Given the description of an element on the screen output the (x, y) to click on. 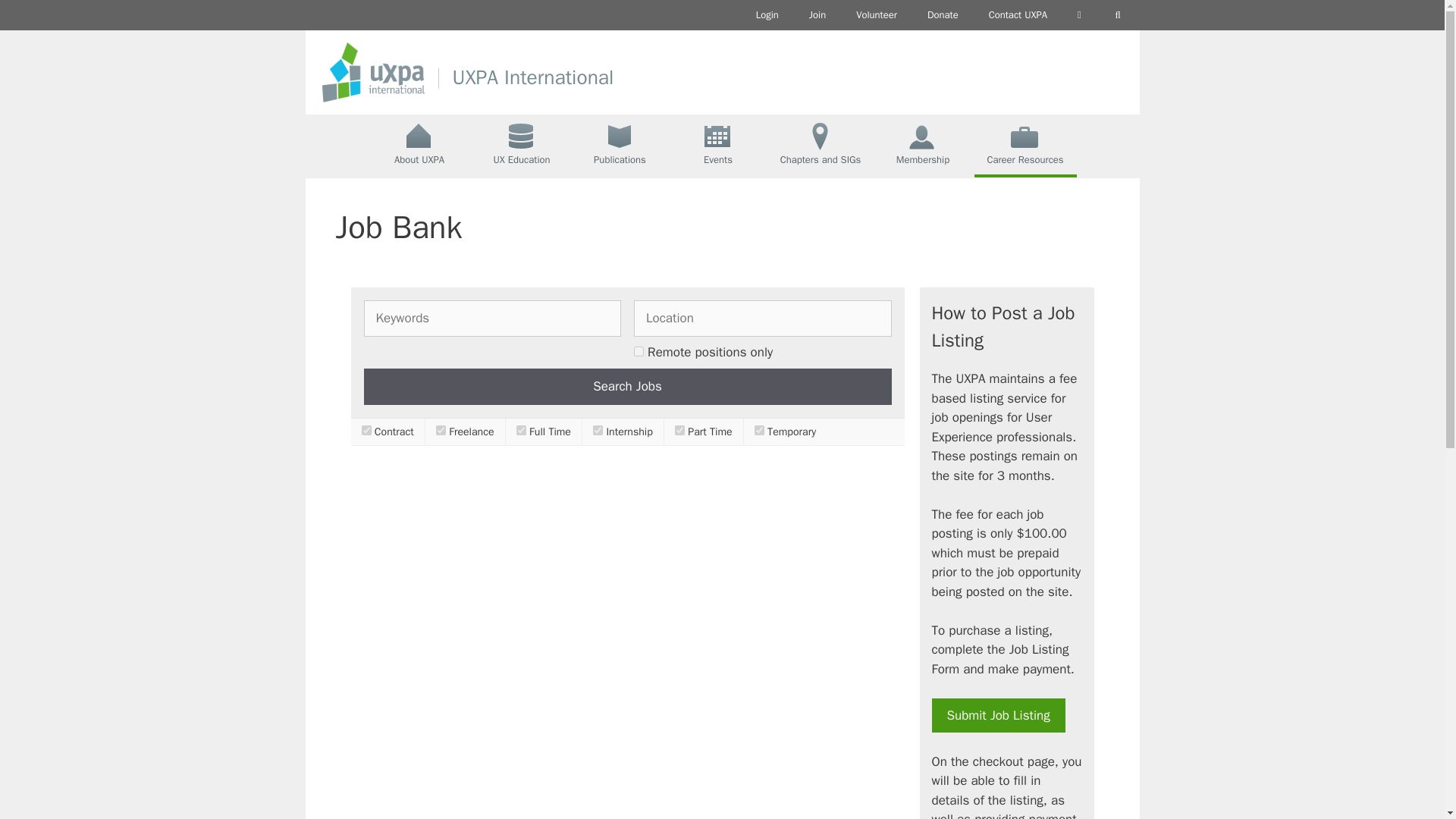
Volunteer (876, 15)
full-time (520, 429)
Join (817, 15)
Search Jobs (627, 386)
freelance (440, 429)
View your shopping cart (1079, 15)
Login (767, 15)
Donate (943, 15)
Contact UXPA (1018, 15)
1 (638, 351)
part-time (679, 429)
UXPA International (531, 77)
temporary (759, 429)
Search (1118, 15)
contract (366, 429)
